Given the description of an element on the screen output the (x, y) to click on. 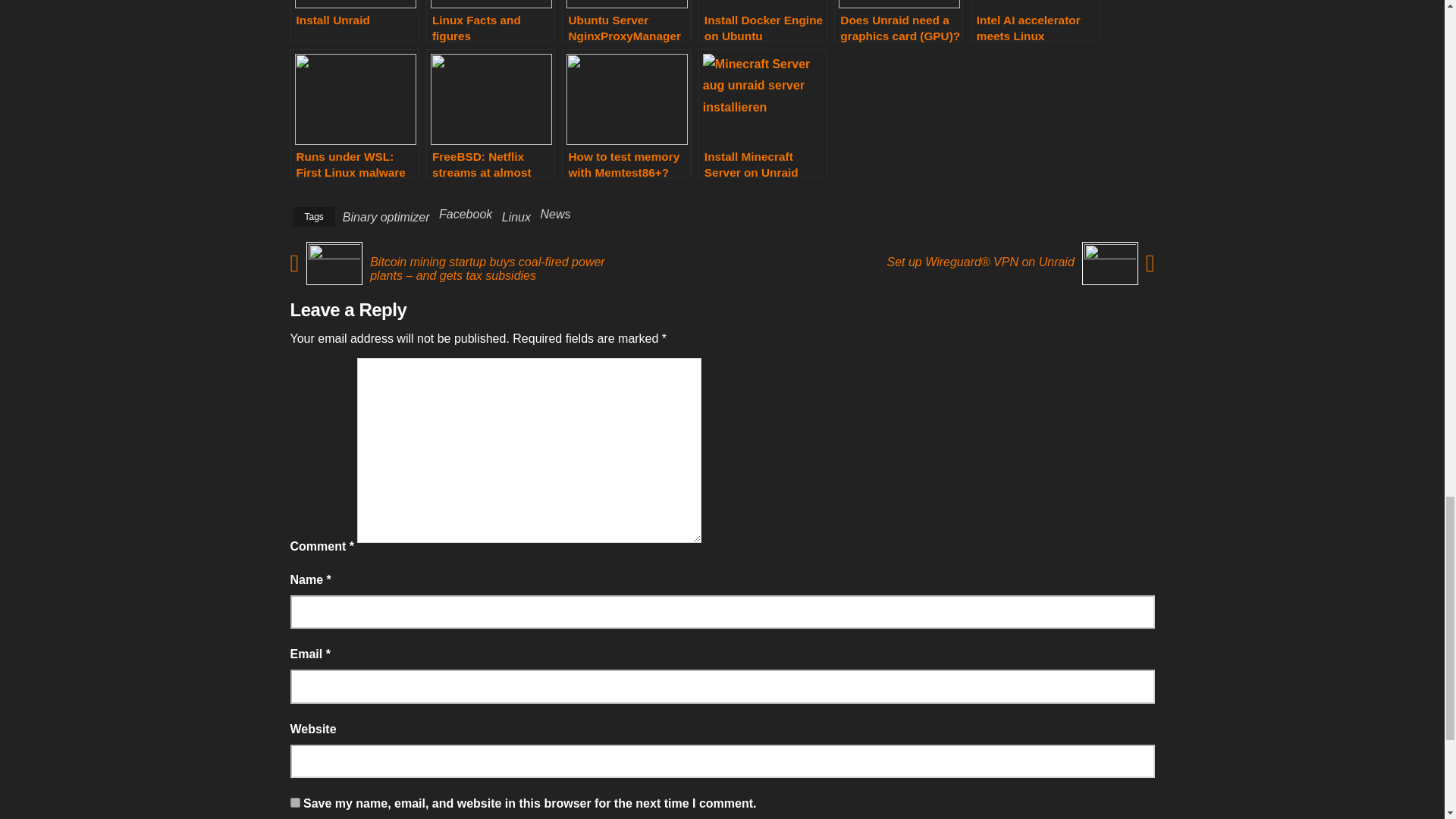
Linux Facts and figures (490, 20)
yes (294, 802)
Install Unraid (354, 20)
